Given the description of an element on the screen output the (x, y) to click on. 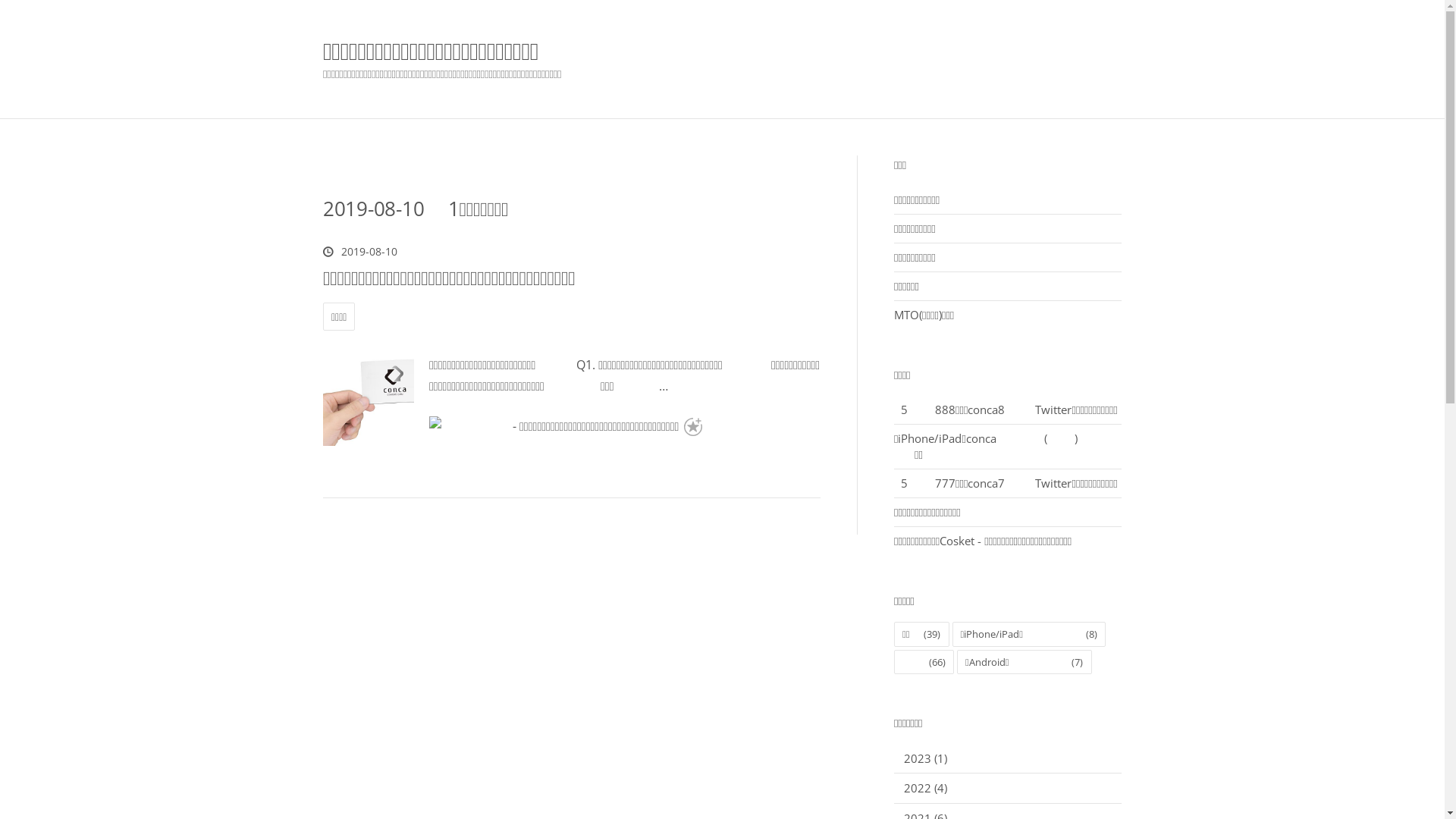
2023 (1) Element type: text (925, 757)
2019-08-10 Element type: text (360, 251)
2022 (4) Element type: text (925, 787)
